Given the description of an element on the screen output the (x, y) to click on. 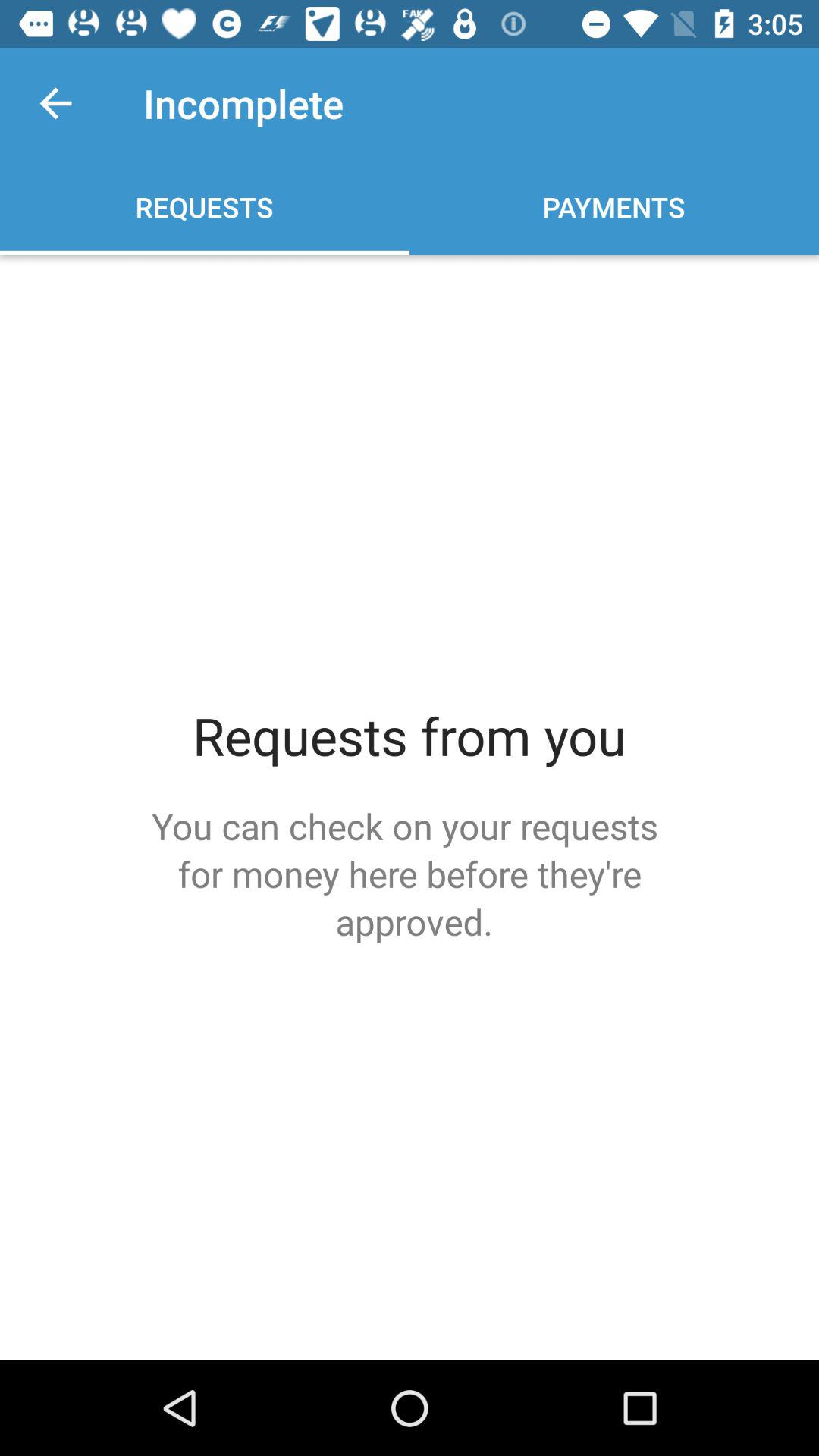
press the item to the left of incomplete item (55, 103)
